Given the description of an element on the screen output the (x, y) to click on. 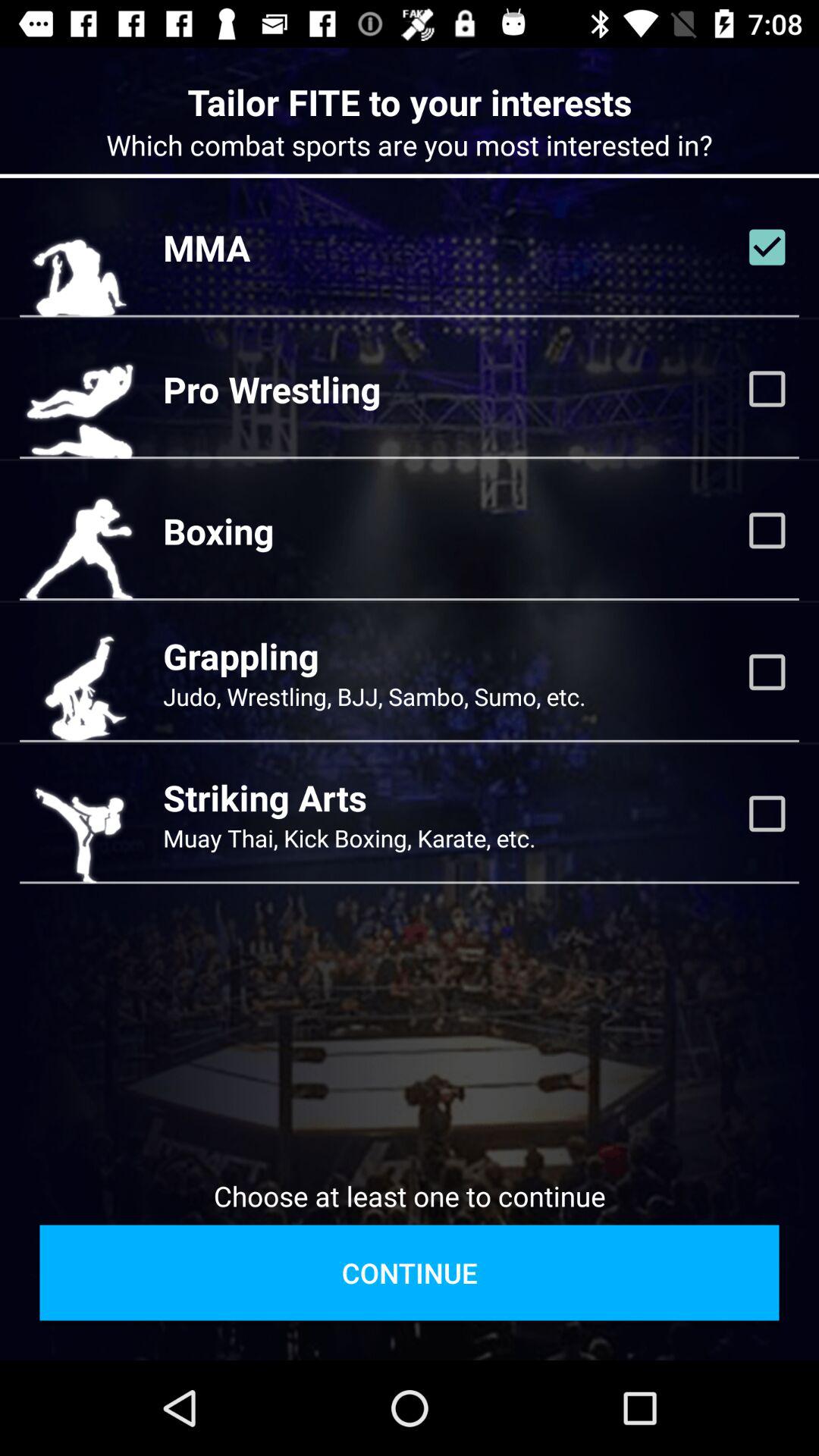
open the grappling icon (241, 655)
